Given the description of an element on the screen output the (x, y) to click on. 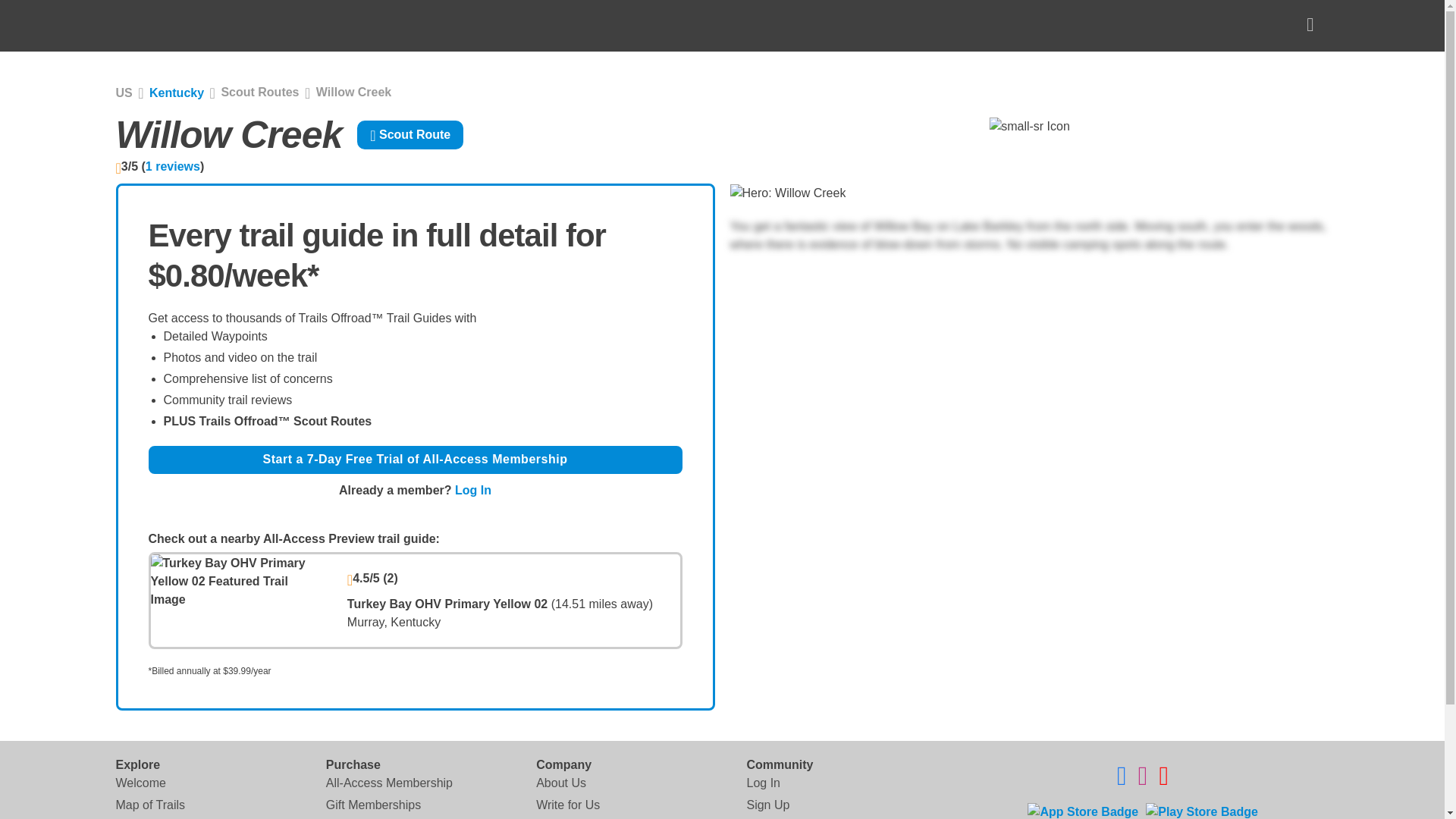
Start a 7-Day Free Trial of All-Access Membership (415, 459)
Map of Trails (149, 805)
About Us (560, 782)
Write for Us (567, 805)
Welcome (140, 782)
Kentucky (176, 92)
All-Access Membership (389, 782)
Contact Us (565, 818)
Gift Memberships (373, 805)
Sign Up (767, 805)
Log In (473, 490)
Technical Ratings (162, 818)
Log In (761, 782)
1 reviews (172, 165)
